Given the description of an element on the screen output the (x, y) to click on. 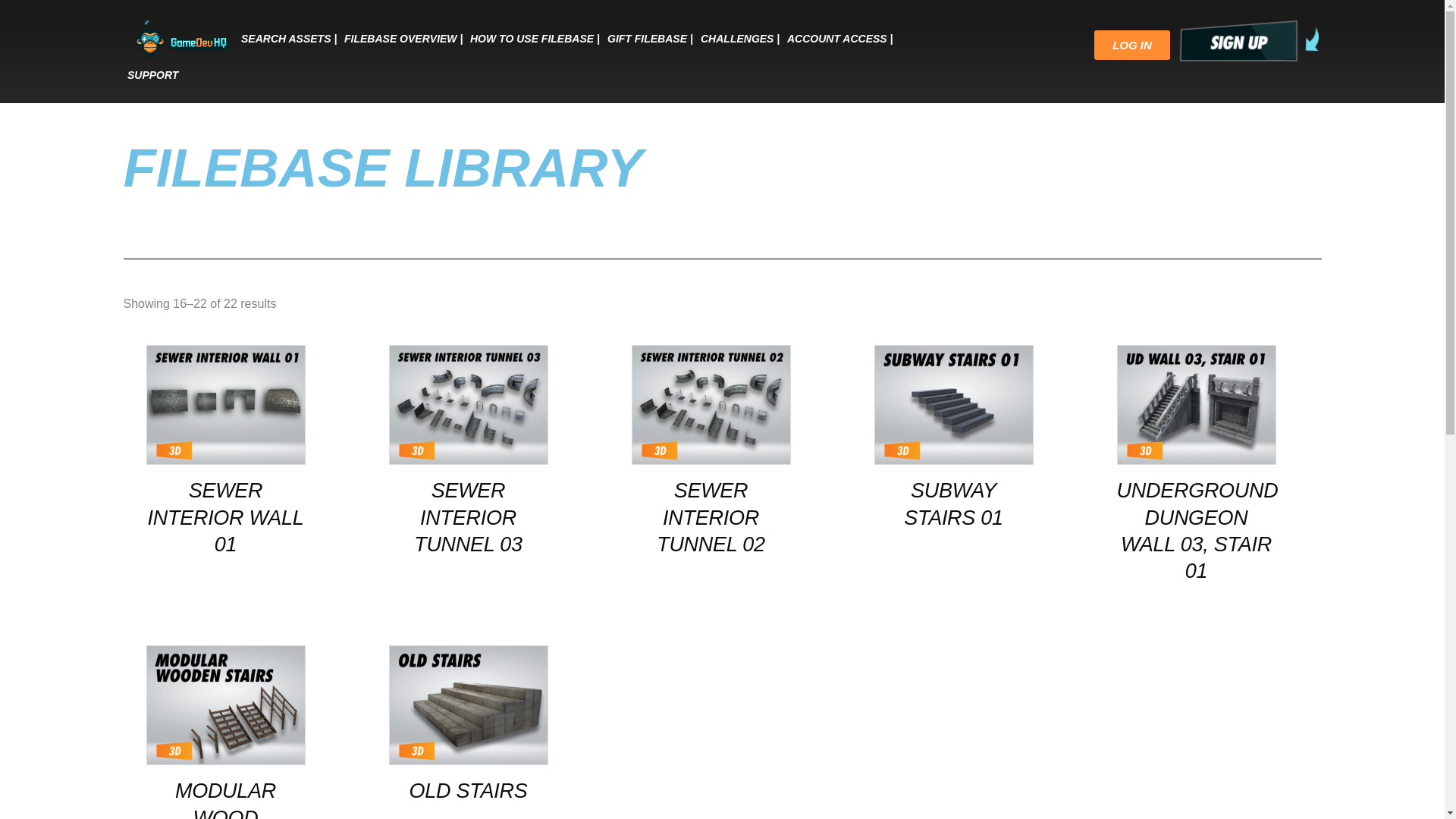
OLD STAIRS (467, 791)
SUBWAY STAIRS 01 (952, 503)
SEWER INTERIOR TUNNEL 02 (710, 517)
LOG IN (1132, 44)
UNDERGROUND DUNGEON WALL 03, STAIR 01 (1195, 530)
SEWER INTERIOR WALL 01 (224, 517)
SUPPORT (152, 74)
MODULAR WOOD STAIRCASE (224, 798)
SEWER INTERIOR TUNNEL 03 (467, 517)
